Given the description of an element on the screen output the (x, y) to click on. 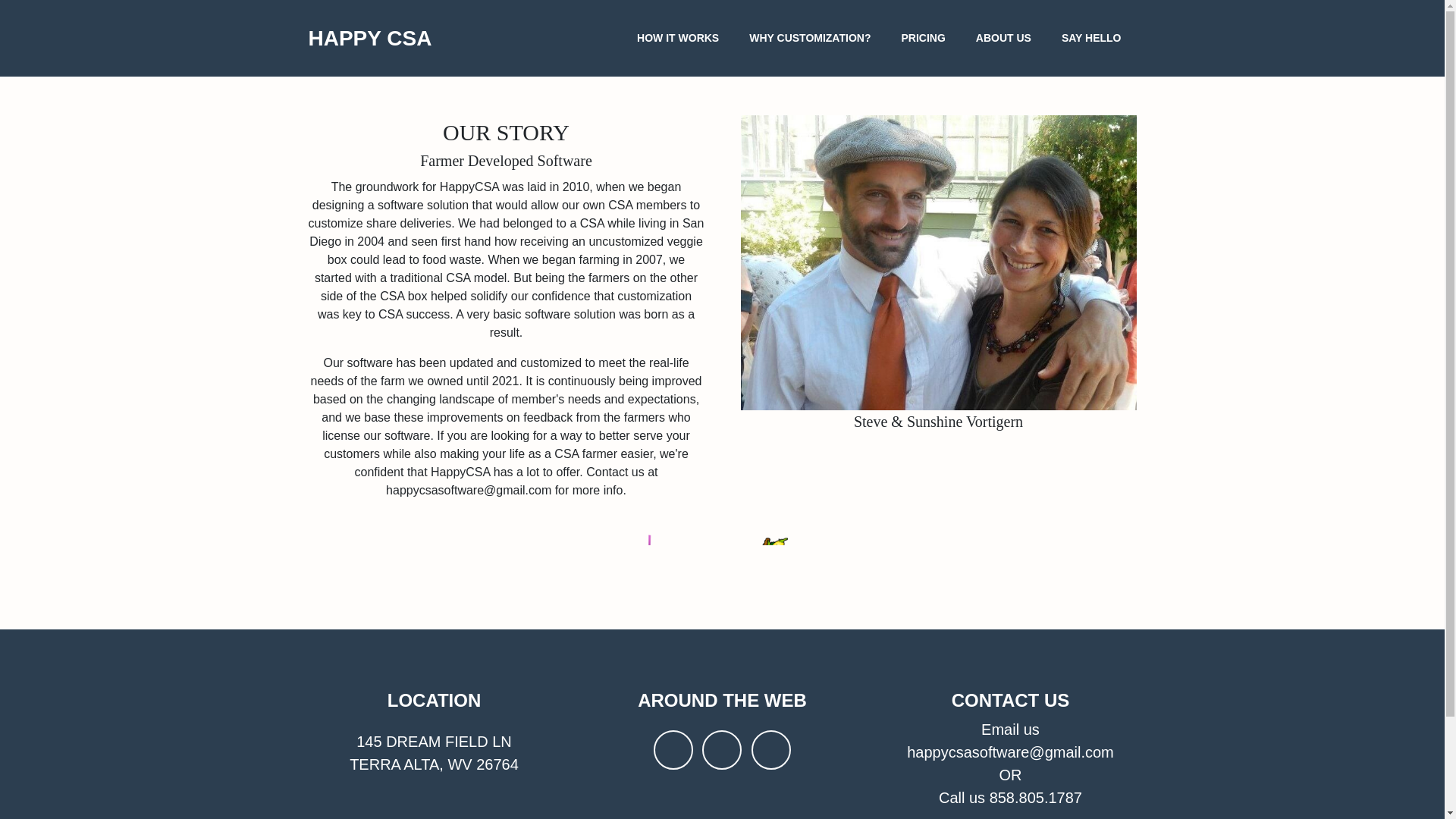
ABOUT US (1003, 38)
HAPPY CSA (368, 37)
SAY HELLO (1091, 38)
PRICING (922, 38)
WHY CUSTOMIZATION? (809, 38)
HOW IT WORKS (677, 38)
HAPPY CSA (368, 37)
PRICING (922, 38)
HOW IT WORKS (677, 38)
SAY HELLO (1091, 38)
ABOUT US (1003, 38)
WHY CUSTOMIZATION? (809, 38)
